Given the description of an element on the screen output the (x, y) to click on. 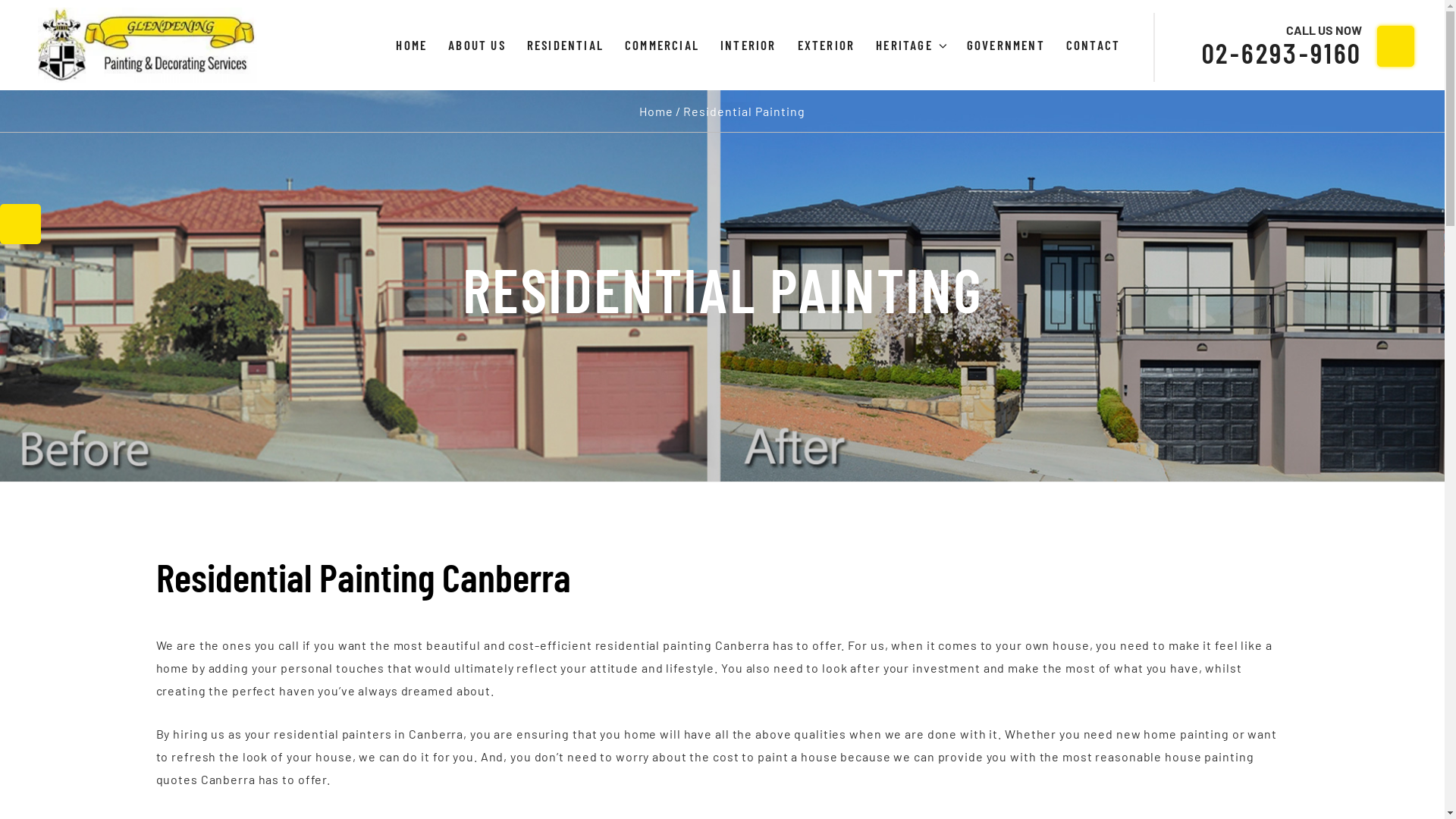
CONTACT Element type: text (1092, 45)
COMMERCIAL Element type: text (661, 45)
HERITAGE Element type: text (910, 45)
Facebook Element type: text (20, 223)
RESIDENTIAL Element type: text (565, 45)
Skip to content Element type: text (0, 0)
ABOUT US Element type: text (476, 45)
INTERIOR Element type: text (748, 45)
HOME Element type: text (411, 45)
02-6293-9160 Element type: text (1281, 52)
Home Element type: text (656, 110)
GOVERNMENT Element type: text (1005, 45)
EXTERIOR Element type: text (826, 45)
GLENDENING PAINTING Element type: text (439, 24)
